Given the description of an element on the screen output the (x, y) to click on. 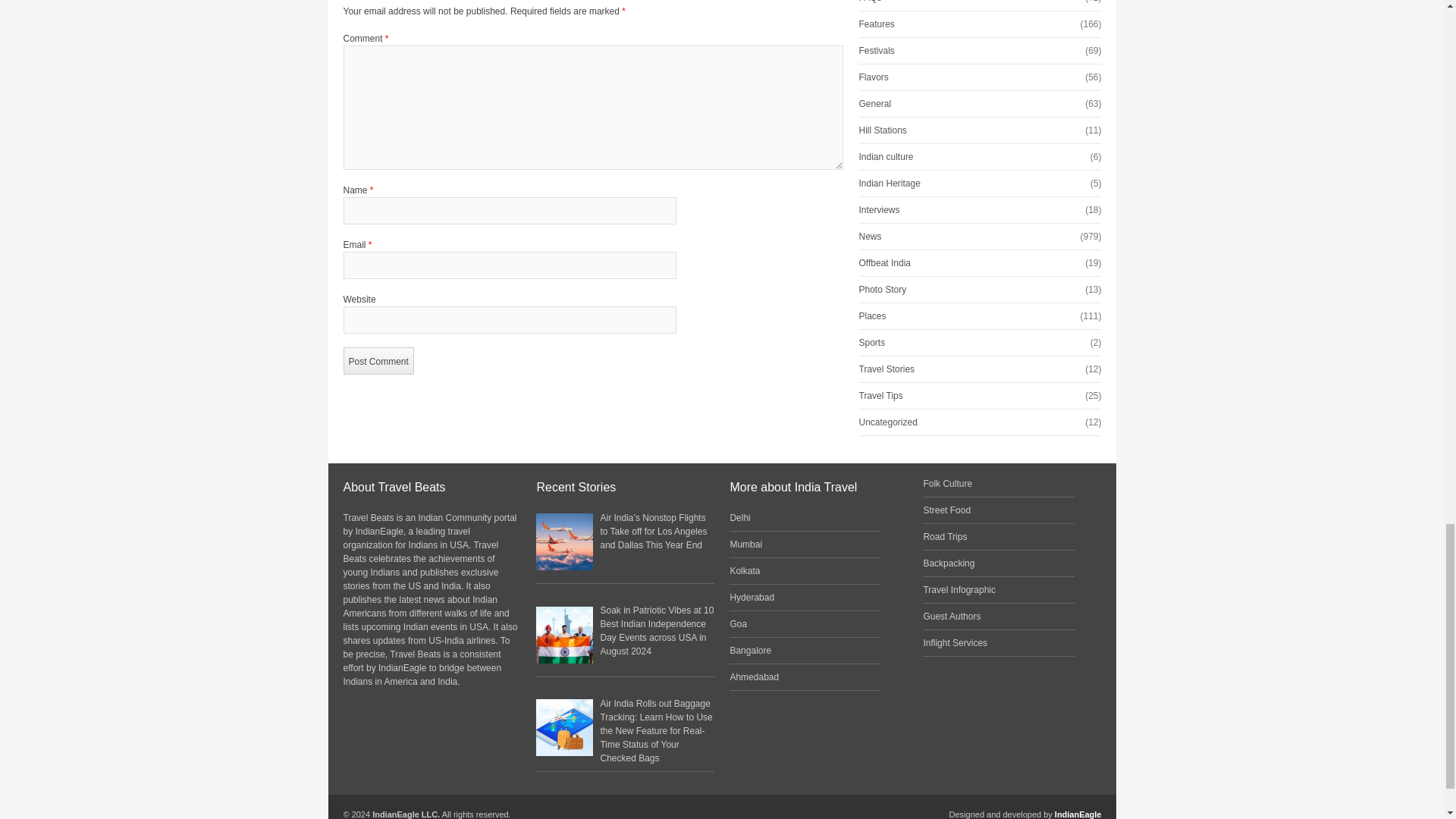
Post Comment (377, 360)
Post Comment (377, 360)
